Given the description of an element on the screen output the (x, y) to click on. 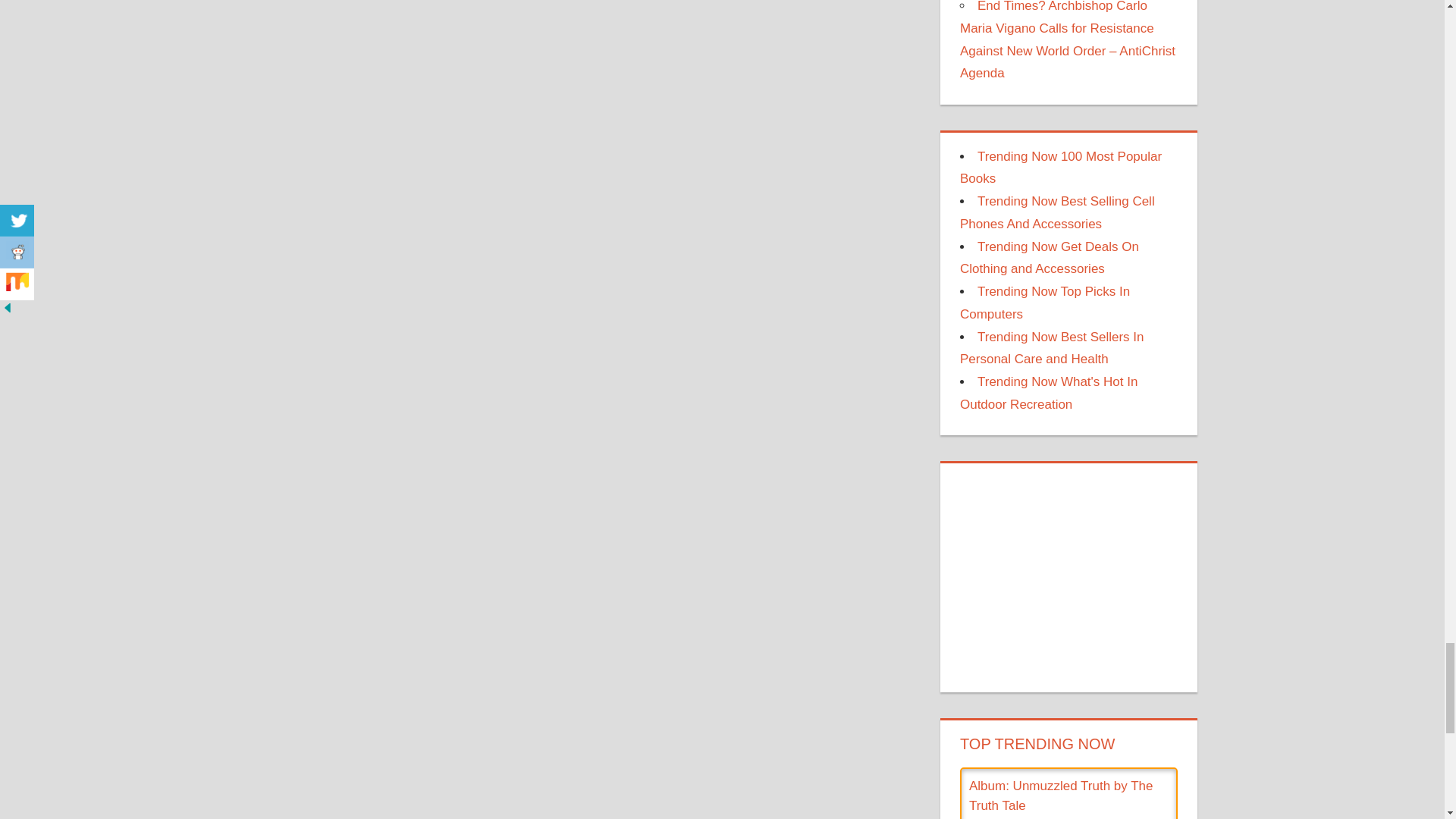
Album: Unmuzzled Truth by The Truth Tale (1061, 795)
